Given the description of an element on the screen output the (x, y) to click on. 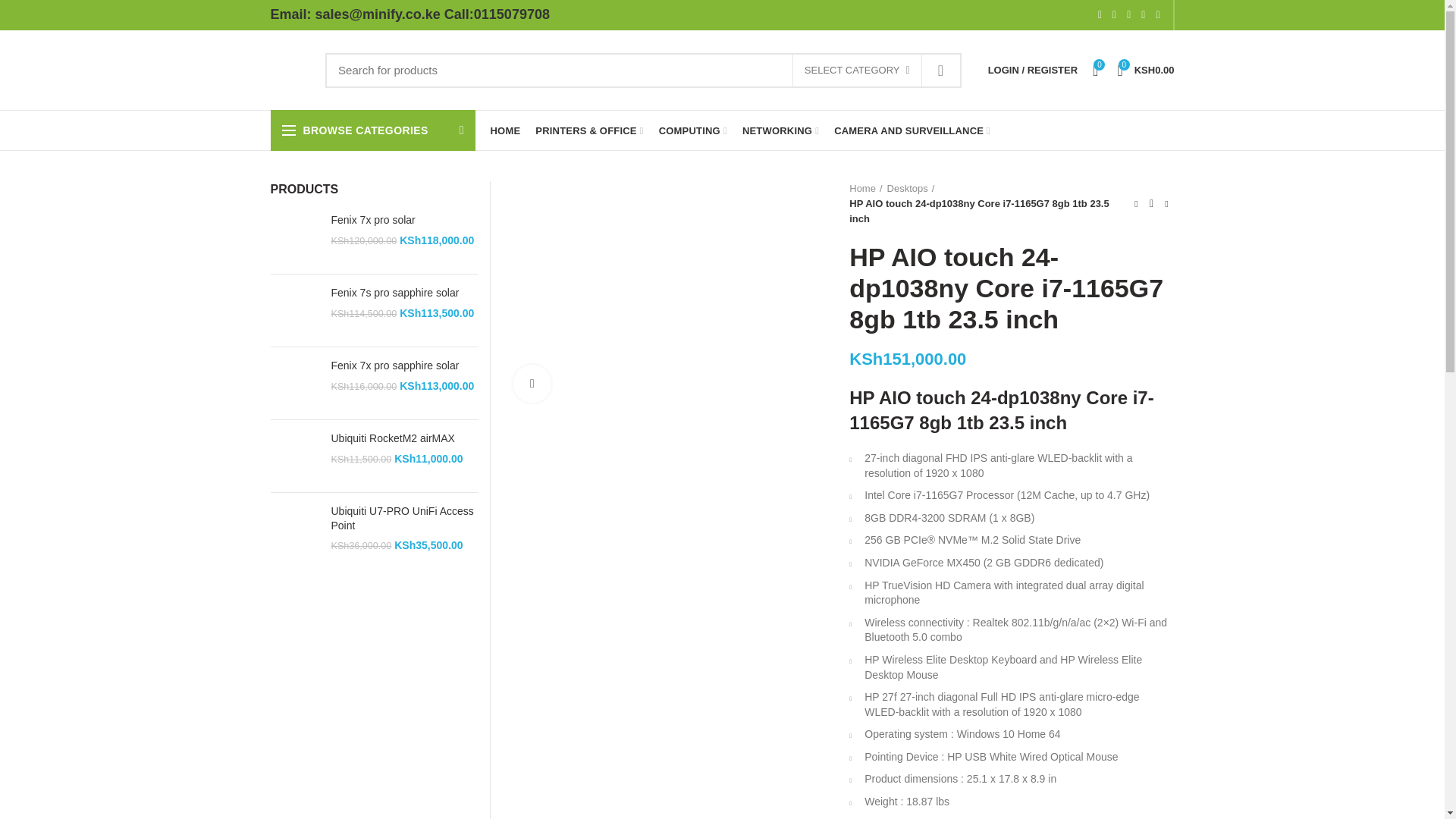
Fenix 7x pro sapphire solar (404, 365)
Fenix 7s pro sapphire solar (404, 292)
Ubiquiti RocketM2 airMAX (293, 455)
Fenix 7x pro solar (404, 219)
Fenix 7x pro sapphire solar (293, 382)
Shopping cart (1144, 69)
Fenix 7s pro sapphire solar (293, 309)
SELECT CATEGORY (856, 70)
SELECT CATEGORY (857, 70)
Fenix 7x pro solar (293, 237)
